Given the description of an element on the screen output the (x, y) to click on. 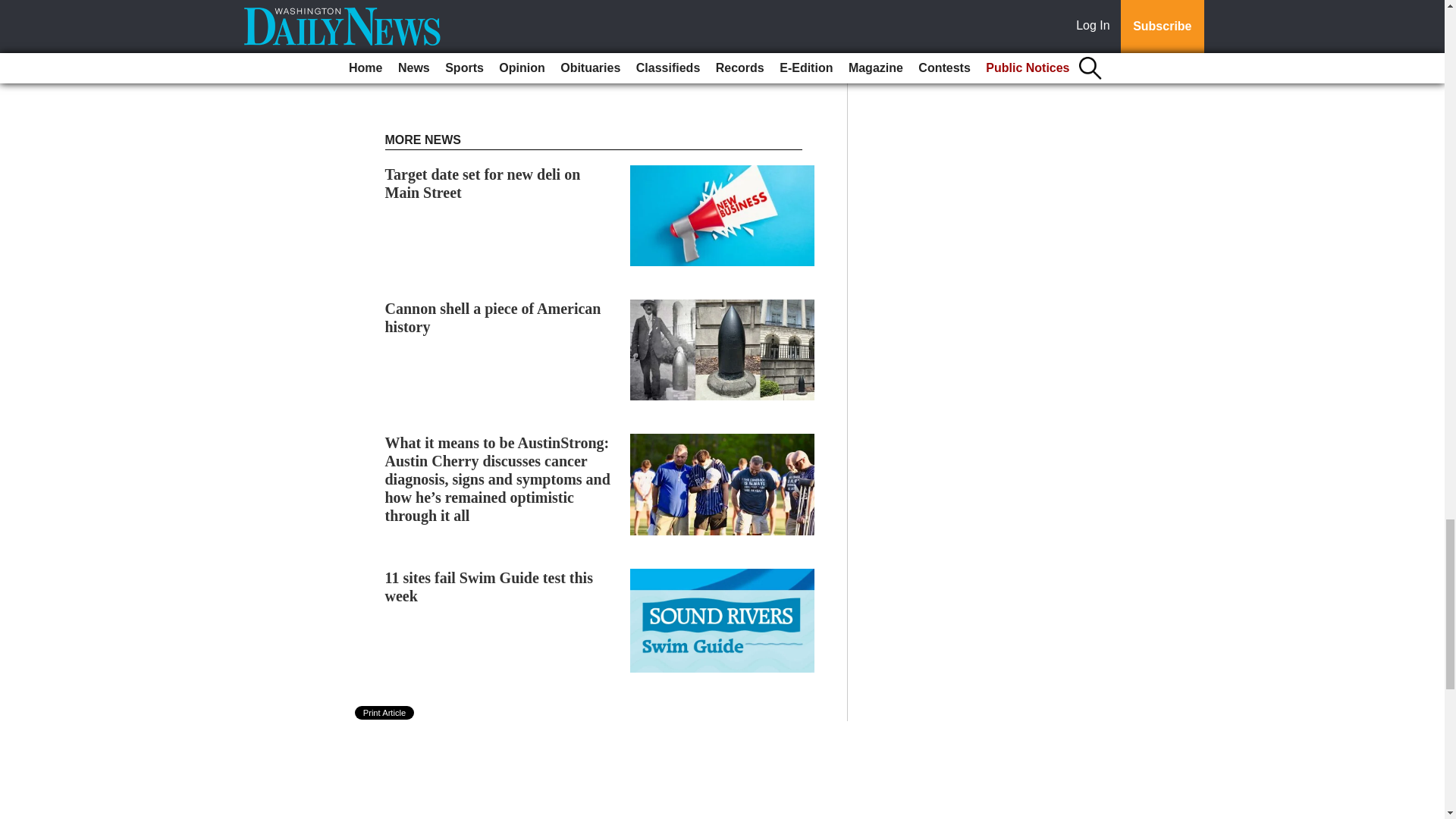
11 sites fail Swim Guide test this week (488, 586)
Print Article (384, 712)
Target date set for new deli on Main Street (482, 183)
Cannon shell a piece of American history (493, 317)
Target date set for new deli on Main Street (482, 183)
11 sites fail Swim Guide test this week (488, 586)
Cannon shell a piece of American history (493, 317)
